Given the description of an element on the screen output the (x, y) to click on. 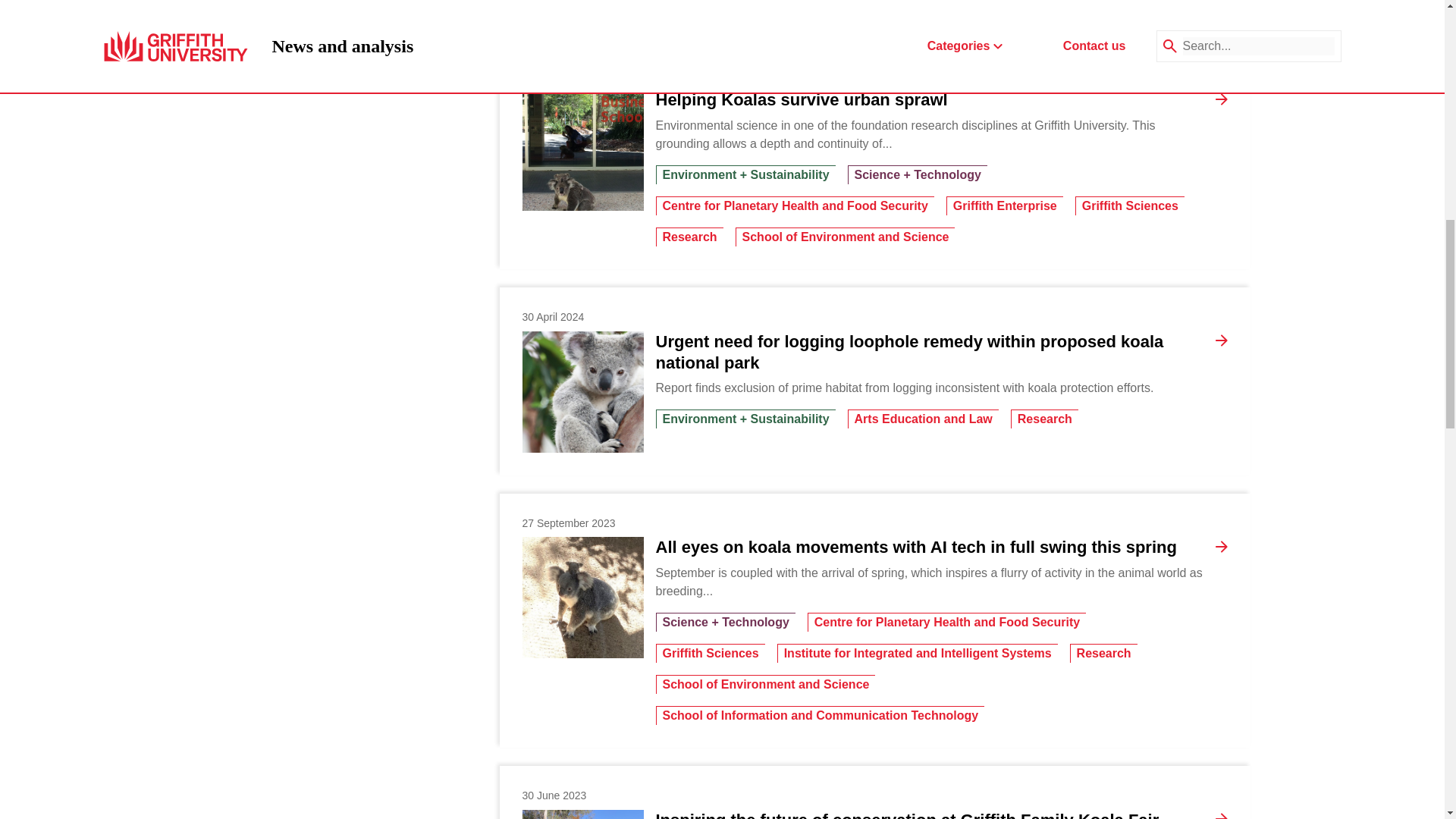
Helping Koalas survive urban sprawl (801, 99)
Helping Koalas survive urban sprawl (582, 149)
